Given the description of an element on the screen output the (x, y) to click on. 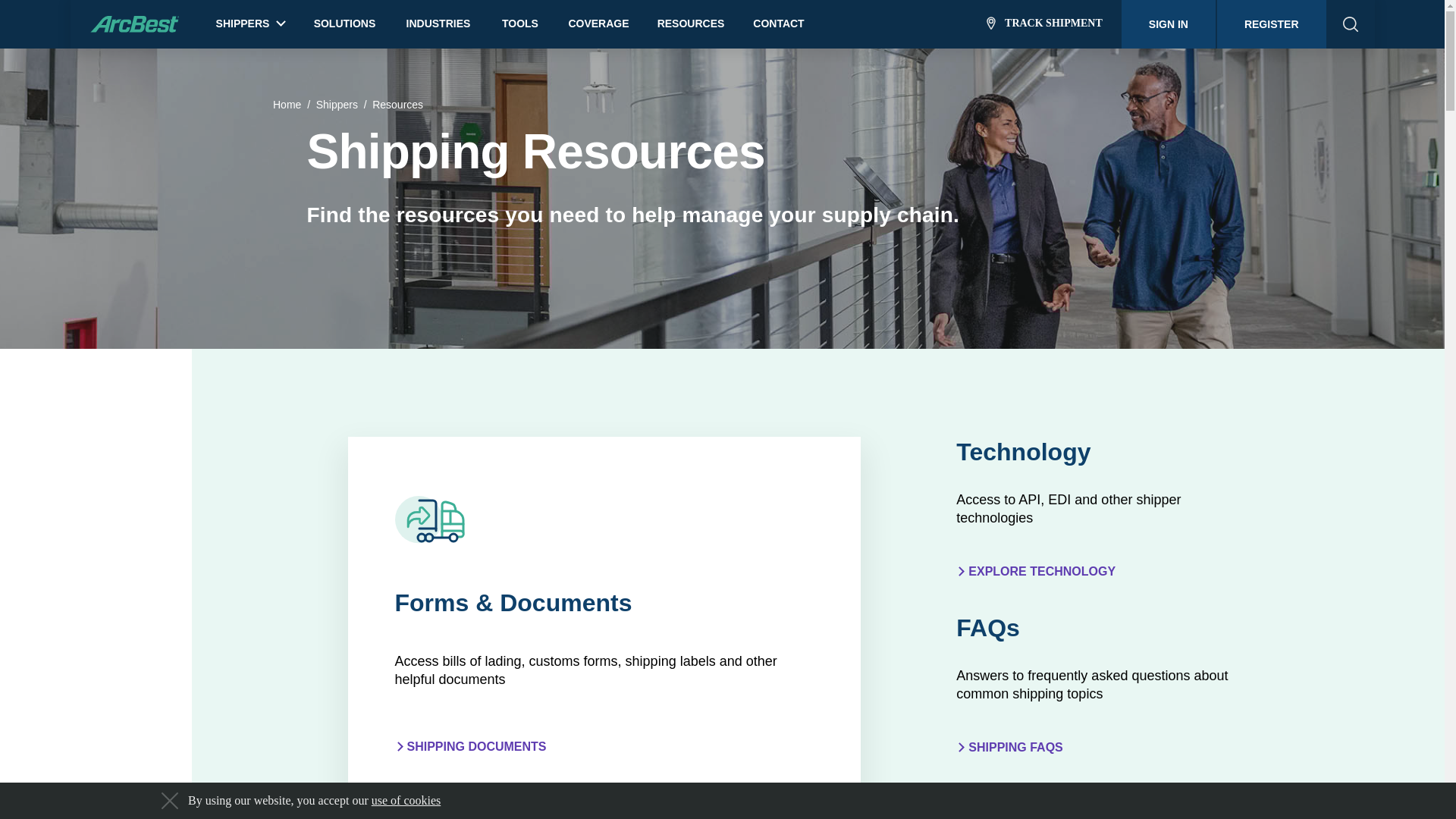
TRACK SHIPMENT (1044, 23)
RESOURCES (691, 24)
COVERAGE (597, 24)
SOLUTIONS (344, 24)
SHIPPERS (250, 20)
REGISTER (1271, 24)
INDUSTRIES (438, 24)
SIGN IN (1168, 24)
CONTACT (777, 24)
